Given the description of an element on the screen output the (x, y) to click on. 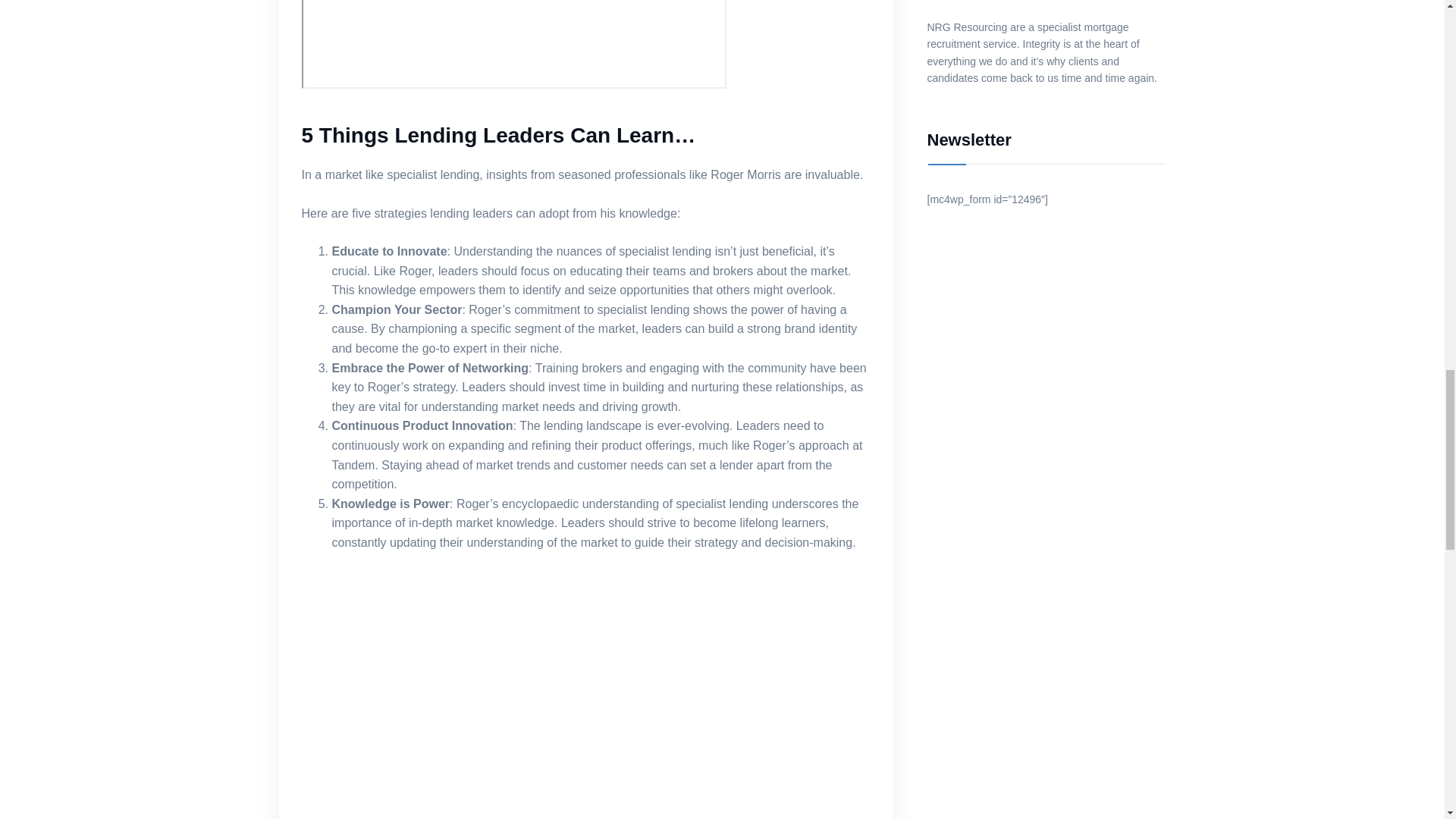
YouTube video player (513, 44)
